Given the description of an element on the screen output the (x, y) to click on. 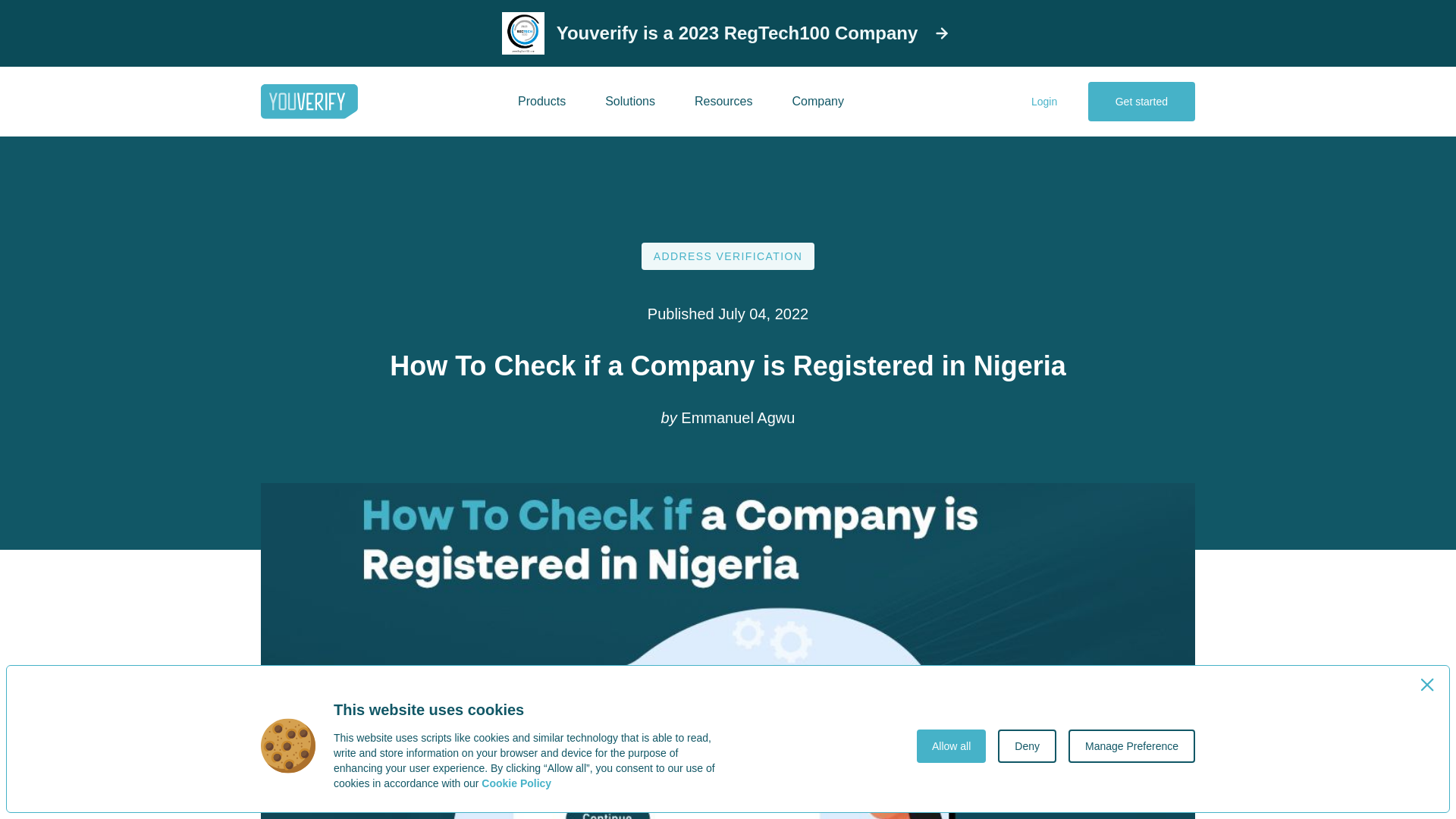
Youverify is a 2023 RegTech100 Company (727, 33)
Get started (1141, 101)
Login (1044, 101)
